Given the description of an element on the screen output the (x, y) to click on. 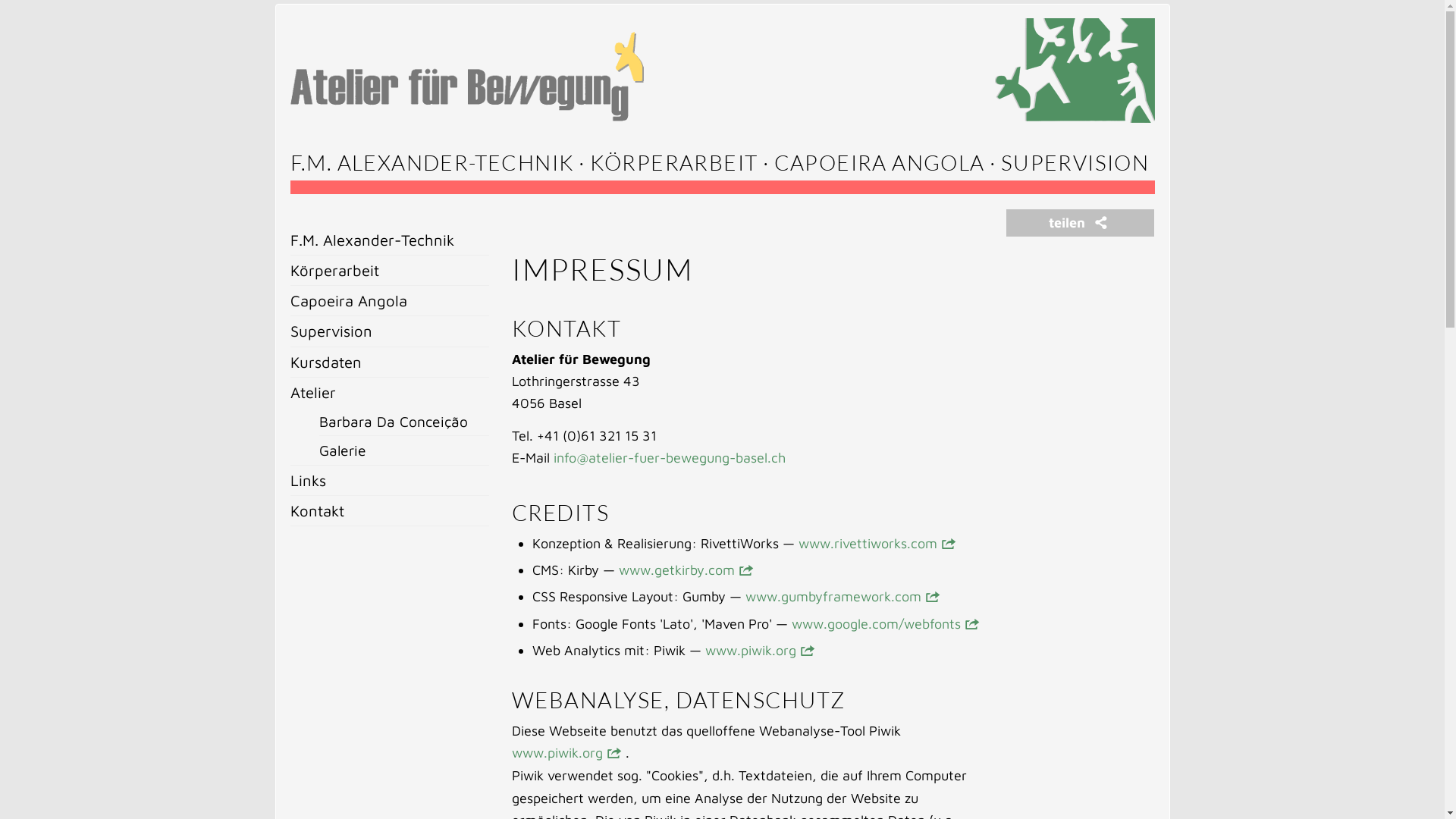
www.getkirby.com Element type: text (676, 569)
teilen Element type: text (1080, 222)
Capoeira Angola Element type: text (389, 300)
www.piwik.org Element type: text (556, 752)
Atelier Element type: text (389, 392)
Kontakt Element type: text (389, 510)
www.rivettiworks.com Element type: text (867, 543)
www.gumbyframework.com Element type: text (833, 596)
info@atelier-fuer-bewegung-basel.ch Element type: text (669, 457)
Supervision Element type: text (389, 330)
Kursdaten Element type: text (389, 361)
Links Element type: text (389, 480)
www.piwik.org Element type: text (750, 650)
www.google.com/webfonts Element type: text (875, 623)
F.M. Alexander-Technik Element type: text (389, 239)
Galerie Element type: text (404, 450)
